Given the description of an element on the screen output the (x, y) to click on. 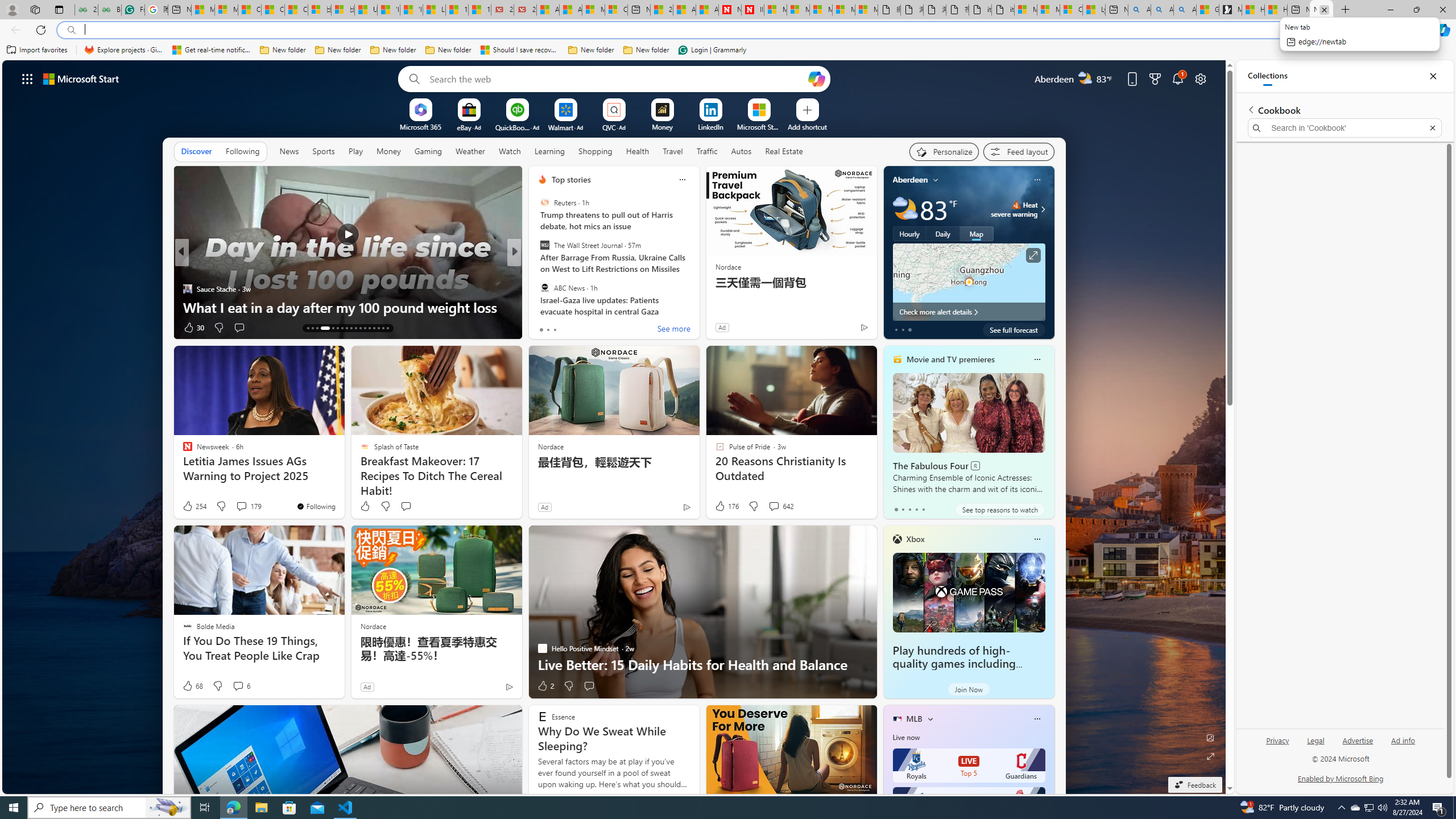
View comments 2 Comment (588, 327)
USA TODAY - MSN (365, 9)
2 Like (545, 685)
View comments 10 Comment (589, 327)
Legal (1315, 745)
Microsoft start (81, 78)
See top reasons to watch (999, 509)
Edit Background (1210, 737)
Watch (509, 151)
Network Products (697, 307)
LinkedIn (710, 126)
Autos (740, 151)
